Given the description of an element on the screen output the (x, y) to click on. 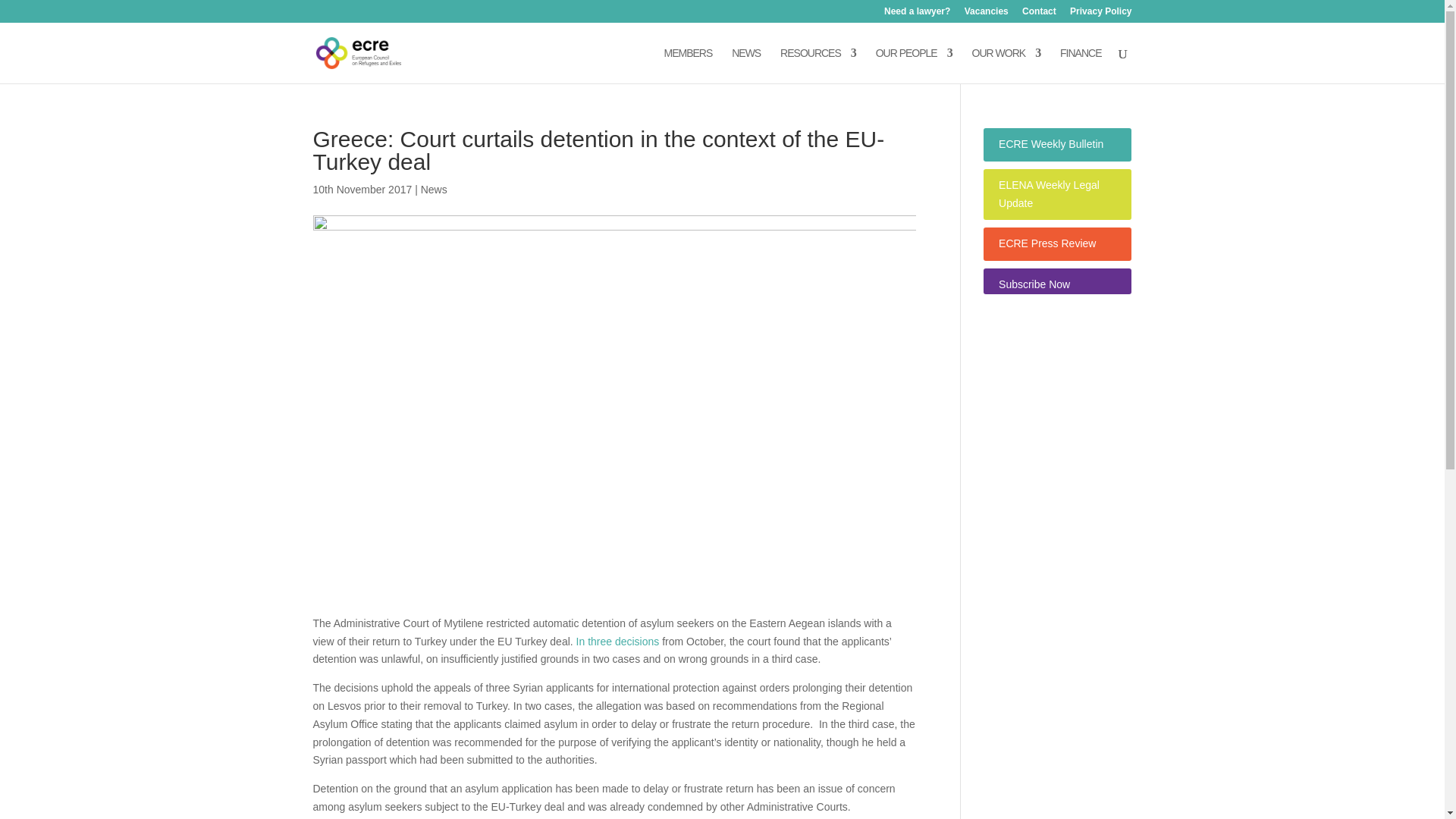
Subscribe Now (1034, 284)
OUR WORK (1006, 65)
MEMBERS (688, 65)
FINANCE (1079, 65)
ELENA Weekly Legal Update (1048, 194)
ECRE Press Review (1047, 243)
RESOURCES (818, 65)
OUR PEOPLE (914, 65)
In three decisions (617, 641)
News (433, 189)
